Given the description of an element on the screen output the (x, y) to click on. 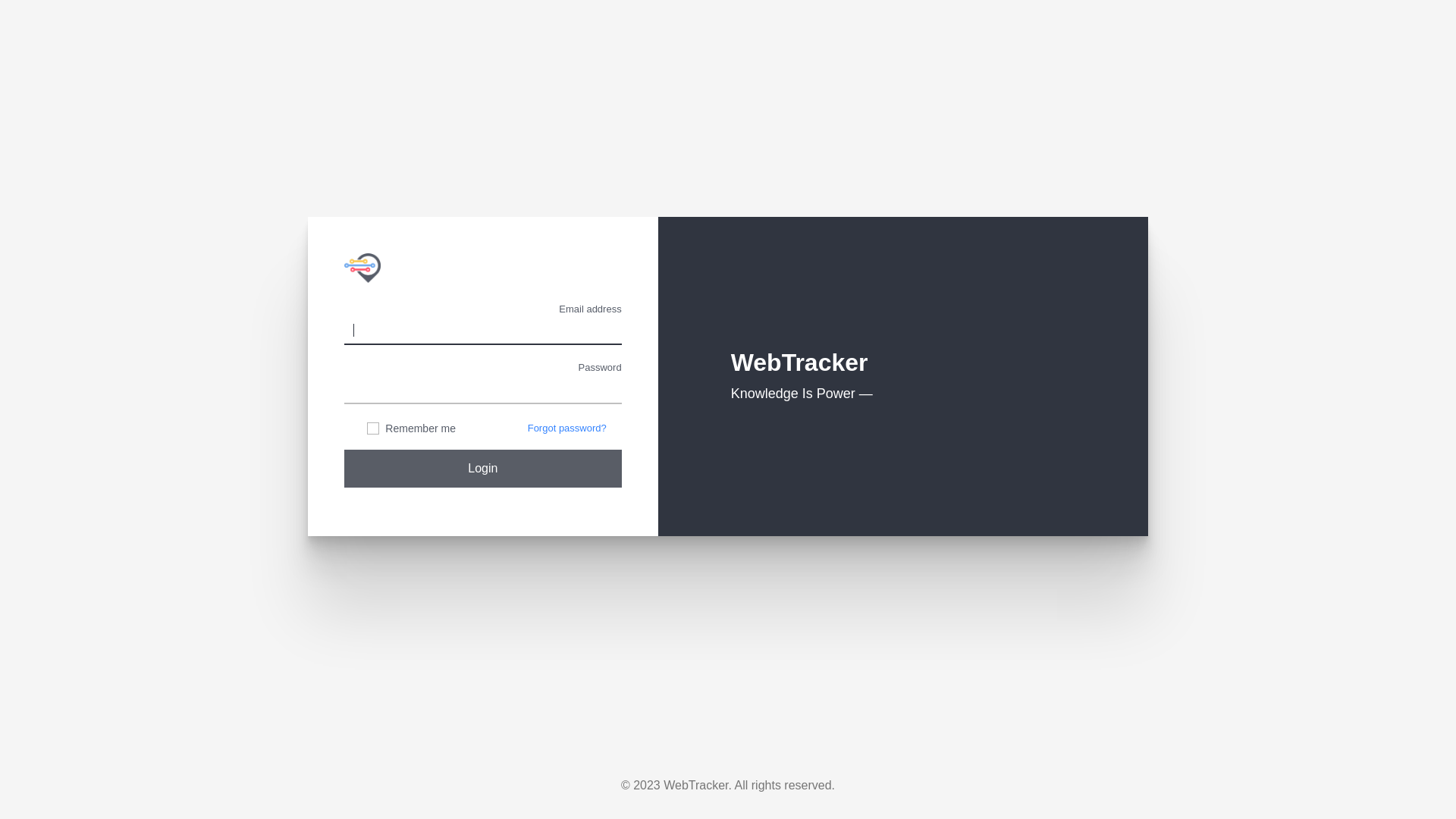
Forgot password? Element type: text (566, 427)
Login Element type: text (482, 467)
